Given the description of an element on the screen output the (x, y) to click on. 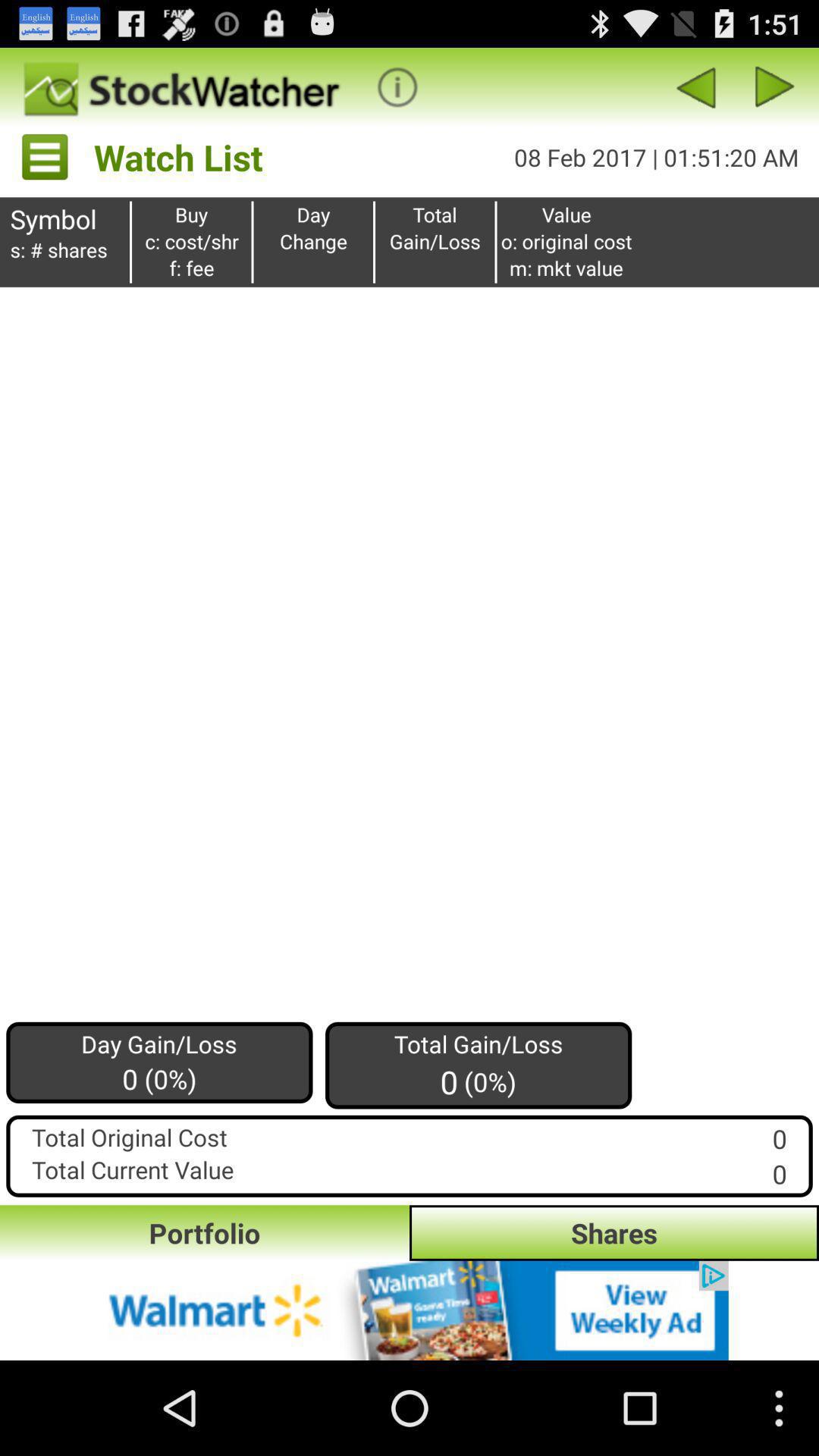
add page (409, 1310)
